Given the description of an element on the screen output the (x, y) to click on. 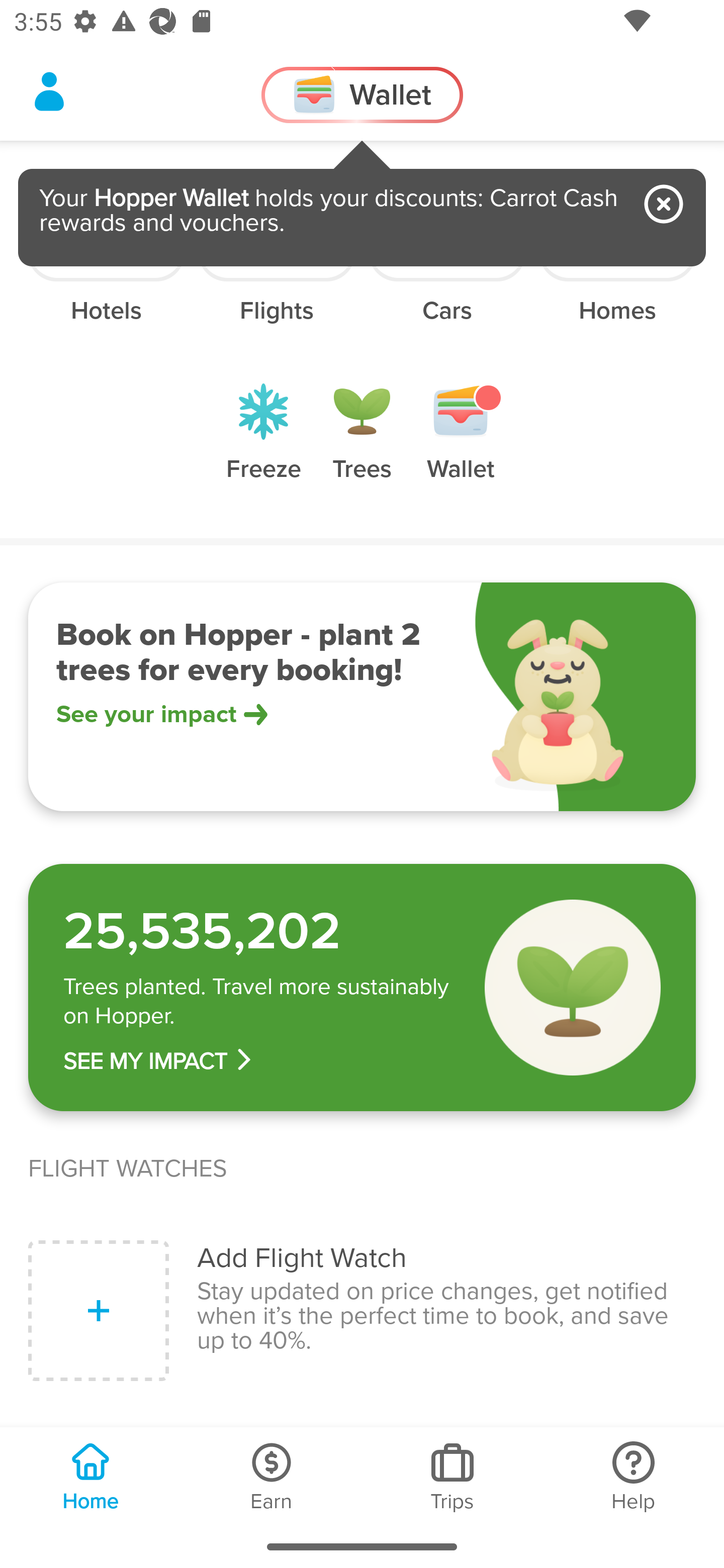
‍Wallet (362, 95)
Freeze (263, 446)
Trees (361, 446)
Wallet (460, 446)
‍25,535,202 (259, 931)
‍Trees planted. Travel more sustainably on Hopper. (259, 1001)
‍SEE MY IMPACT ​ (259, 1060)
Earn (271, 1475)
Trips (452, 1475)
Help (633, 1475)
